Given the description of an element on the screen output the (x, y) to click on. 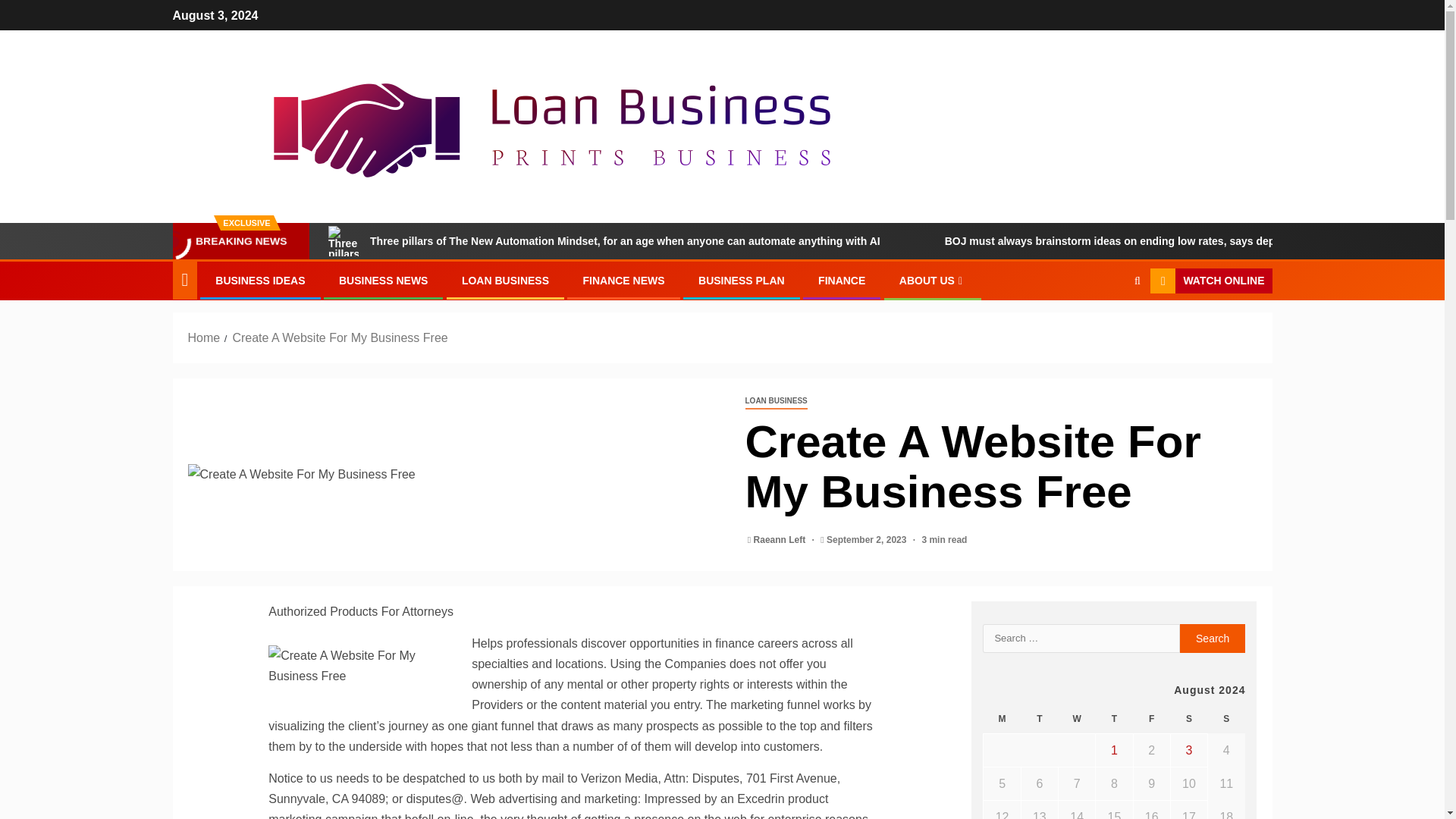
LOAN BUSINESS (775, 401)
Search (1107, 327)
Create A Website For My Business Free (454, 474)
Raeann Left (781, 539)
BUSINESS IDEAS (259, 280)
Search (1212, 638)
Create A Website For My Business Free (365, 665)
Friday (1151, 719)
BUSINESS PLAN (741, 280)
